Given the description of an element on the screen output the (x, y) to click on. 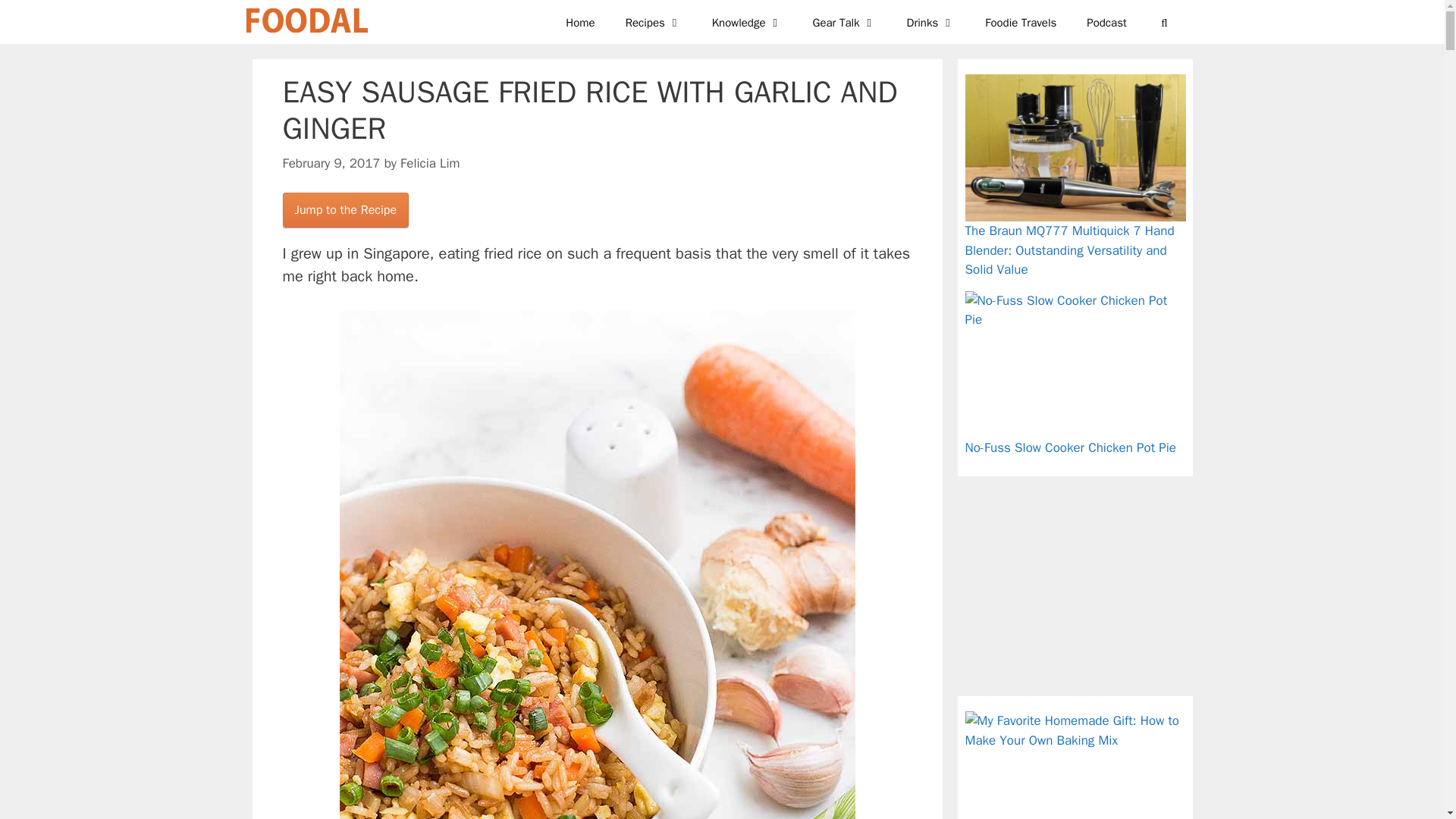
Home (580, 22)
Podcast (1106, 22)
View all posts by Felicia Lim (430, 162)
Drinks (931, 22)
Foodie Travels (1020, 22)
Recipes (653, 22)
Knowledge (747, 22)
Gear Talk (844, 22)
